Given the description of an element on the screen output the (x, y) to click on. 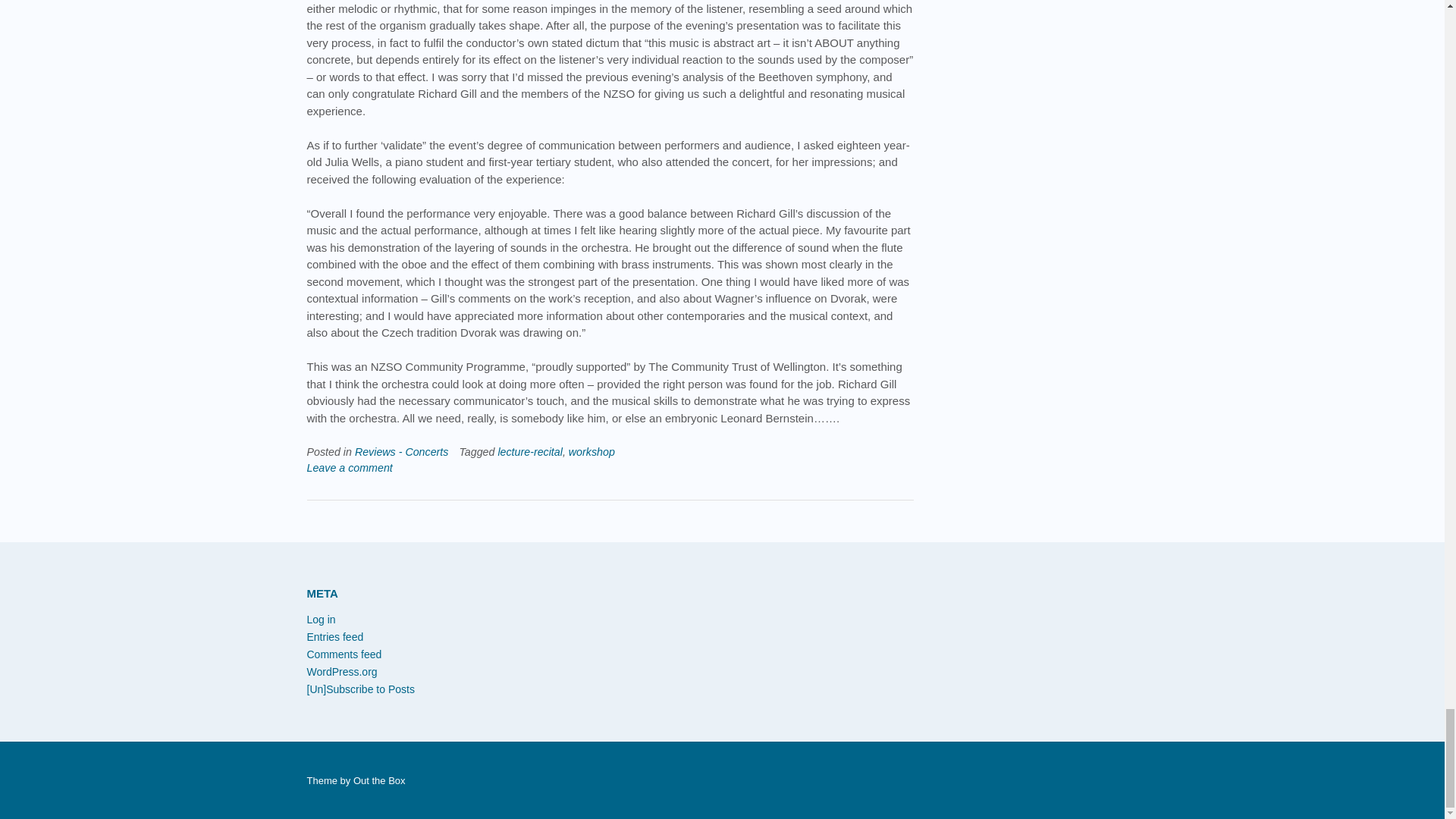
lecture-recital (529, 451)
Reviews - Concerts (401, 451)
Leave a comment (348, 467)
workshop (591, 451)
